Given the description of an element on the screen output the (x, y) to click on. 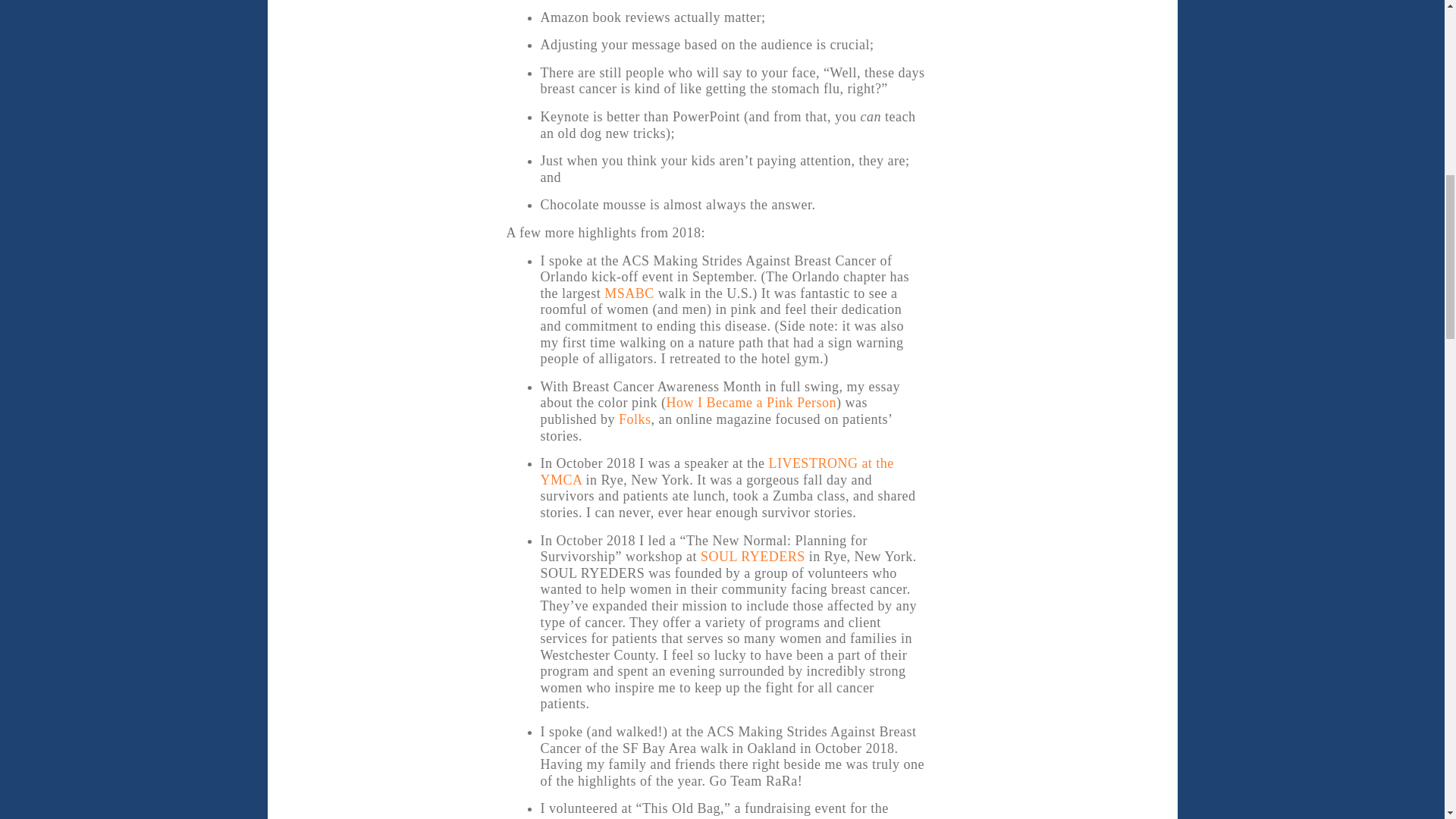
SOUL RYEDERS (752, 556)
LIVESTRONG at the YMCA (716, 471)
How I Became a Pink Person (750, 402)
MSABC (628, 293)
Folks (634, 418)
